Given the description of an element on the screen output the (x, y) to click on. 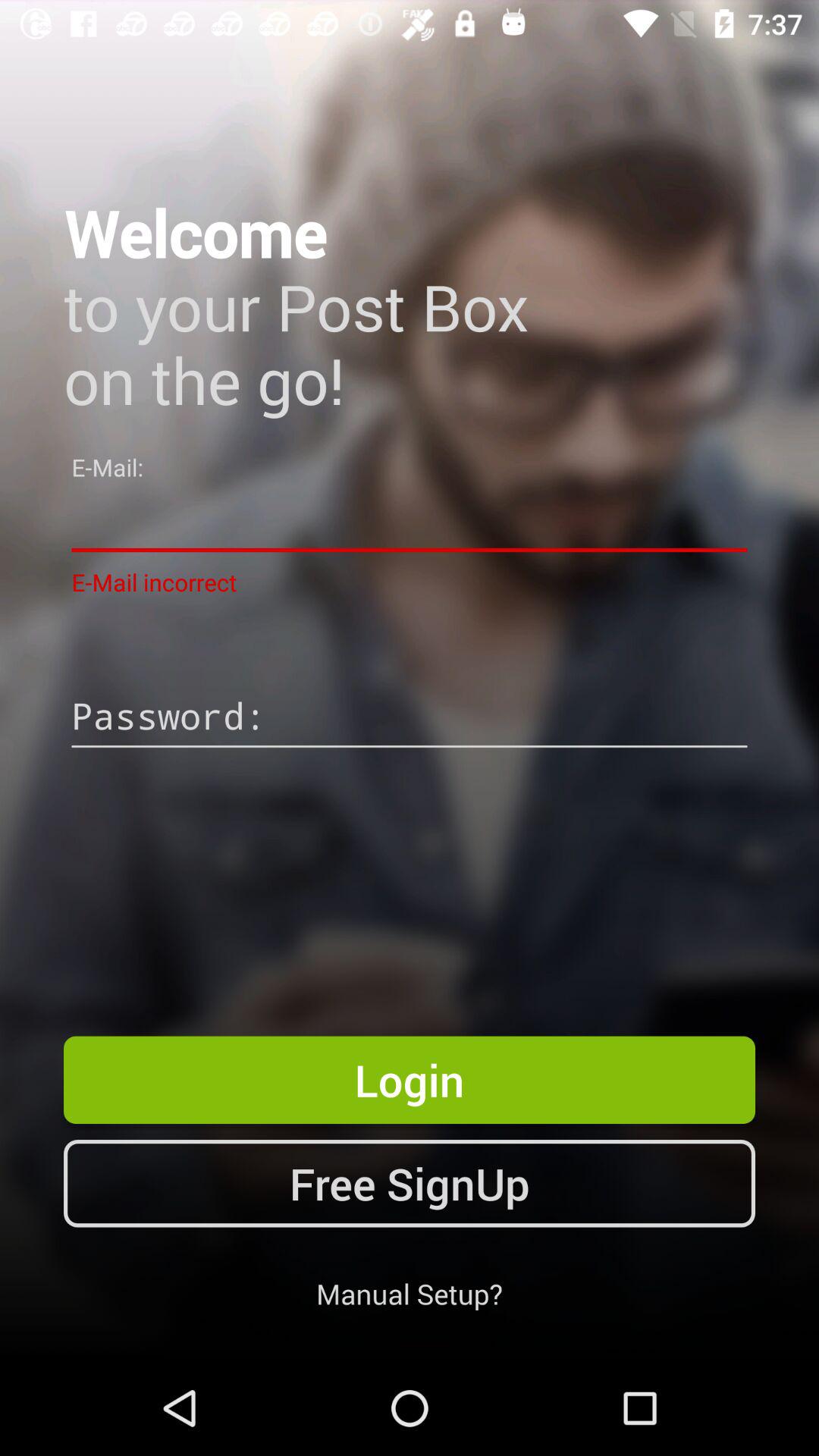
choose the login (409, 1079)
